Given the description of an element on the screen output the (x, y) to click on. 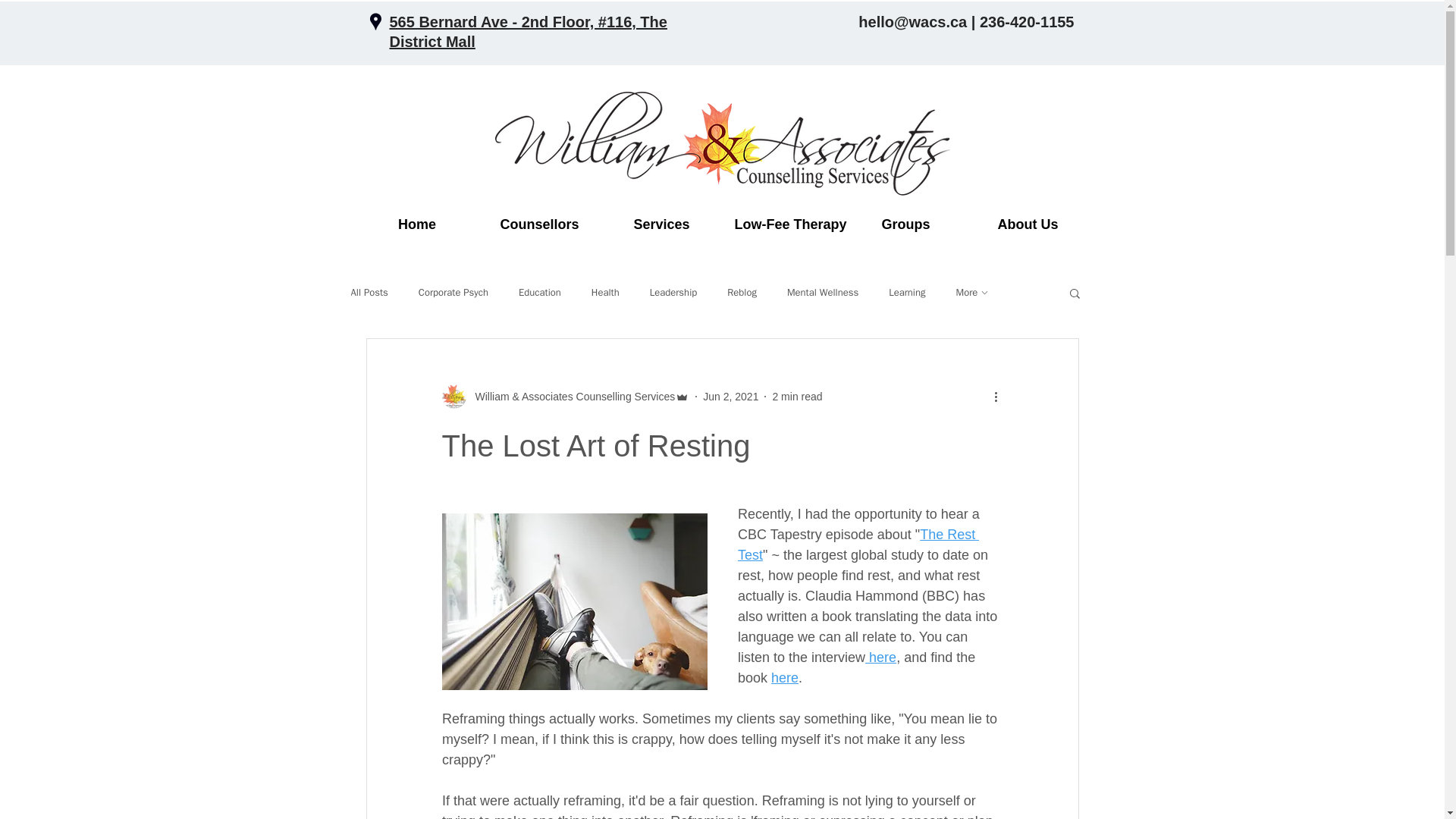
Leadership (673, 292)
Health (605, 292)
Education (539, 292)
About Us (1028, 224)
Corporate Psych (453, 292)
Low-Fee Therapy (783, 224)
2 min read (796, 395)
Services (660, 224)
Home (417, 224)
Counsellors (539, 224)
Jun 2, 2021 (730, 395)
All Posts (368, 292)
Reblog (741, 292)
